Given the description of an element on the screen output the (x, y) to click on. 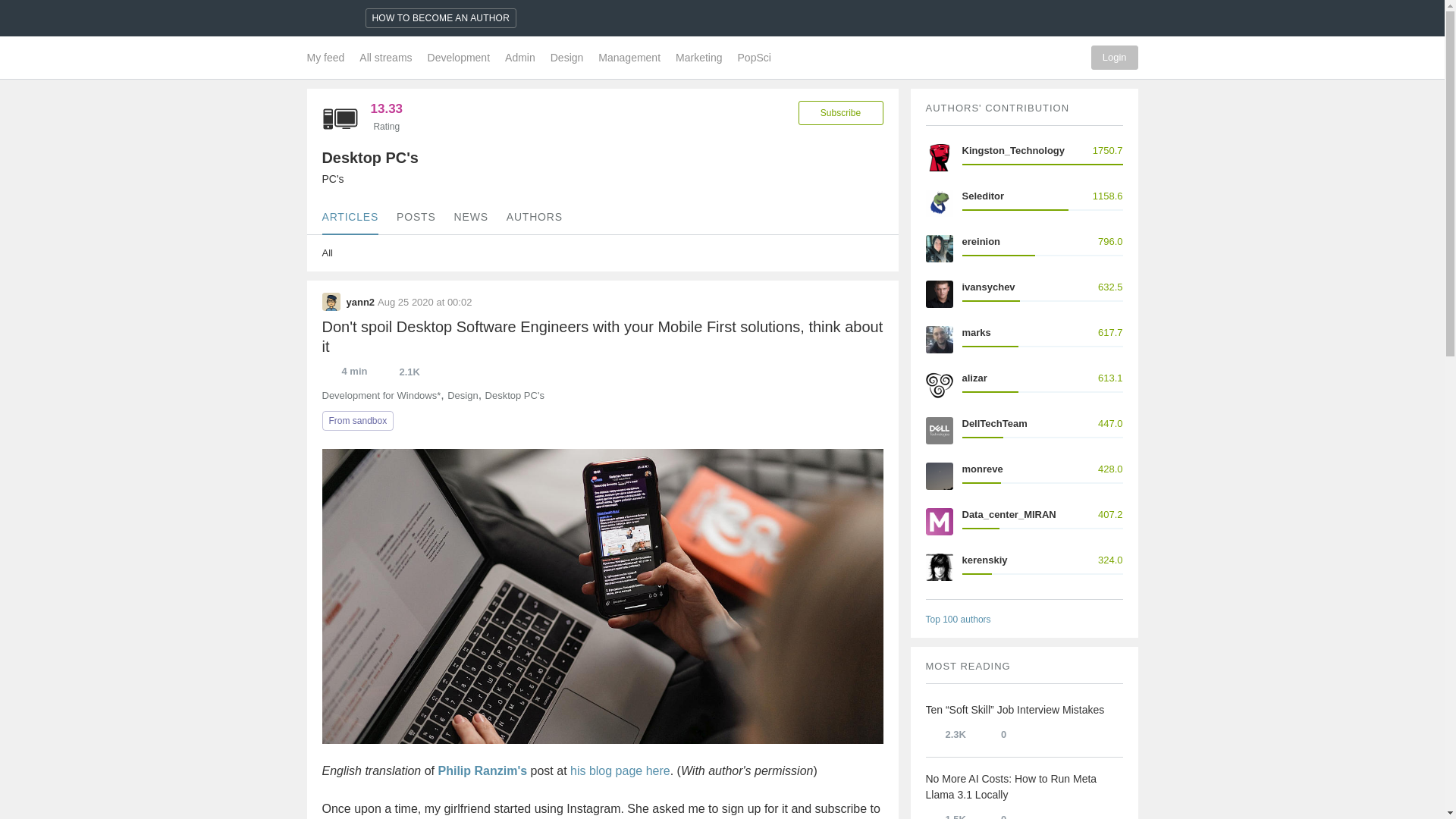
PopSci (750, 57)
Design (461, 395)
NEWS (470, 216)
All (576, 253)
All streams (385, 57)
Design (567, 57)
Read comments (993, 814)
Settings (1069, 57)
Settings (1069, 57)
yann2 (330, 301)
